Given the description of an element on the screen output the (x, y) to click on. 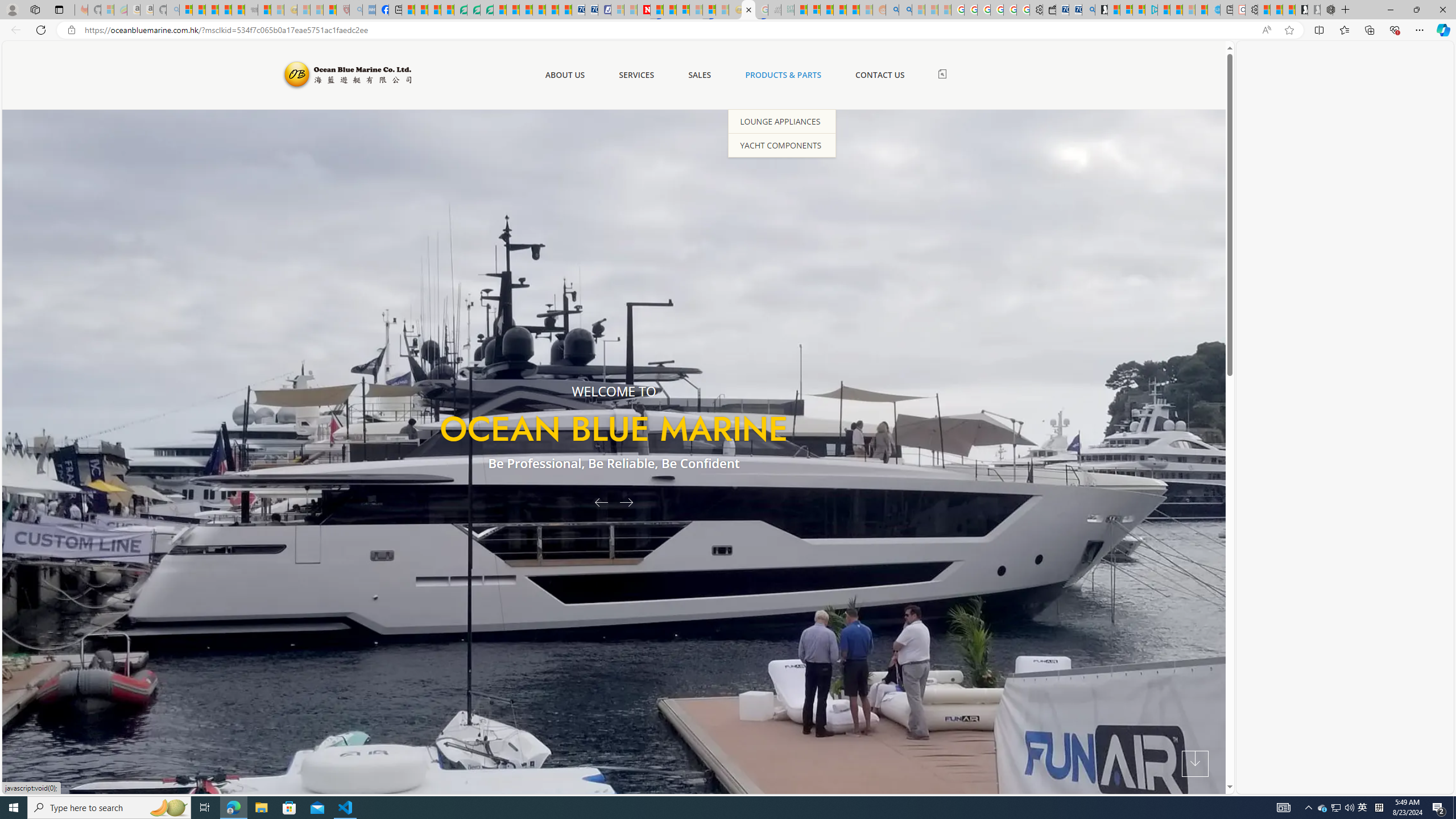
YACHT COMPONENTS (781, 144)
Ocean Blue Marine (345, 74)
DITOGAMES AG Imprint - Sleeping (787, 9)
ABOUT US (564, 74)
LendingTree - Compare Lenders (460, 9)
